Given the description of an element on the screen output the (x, y) to click on. 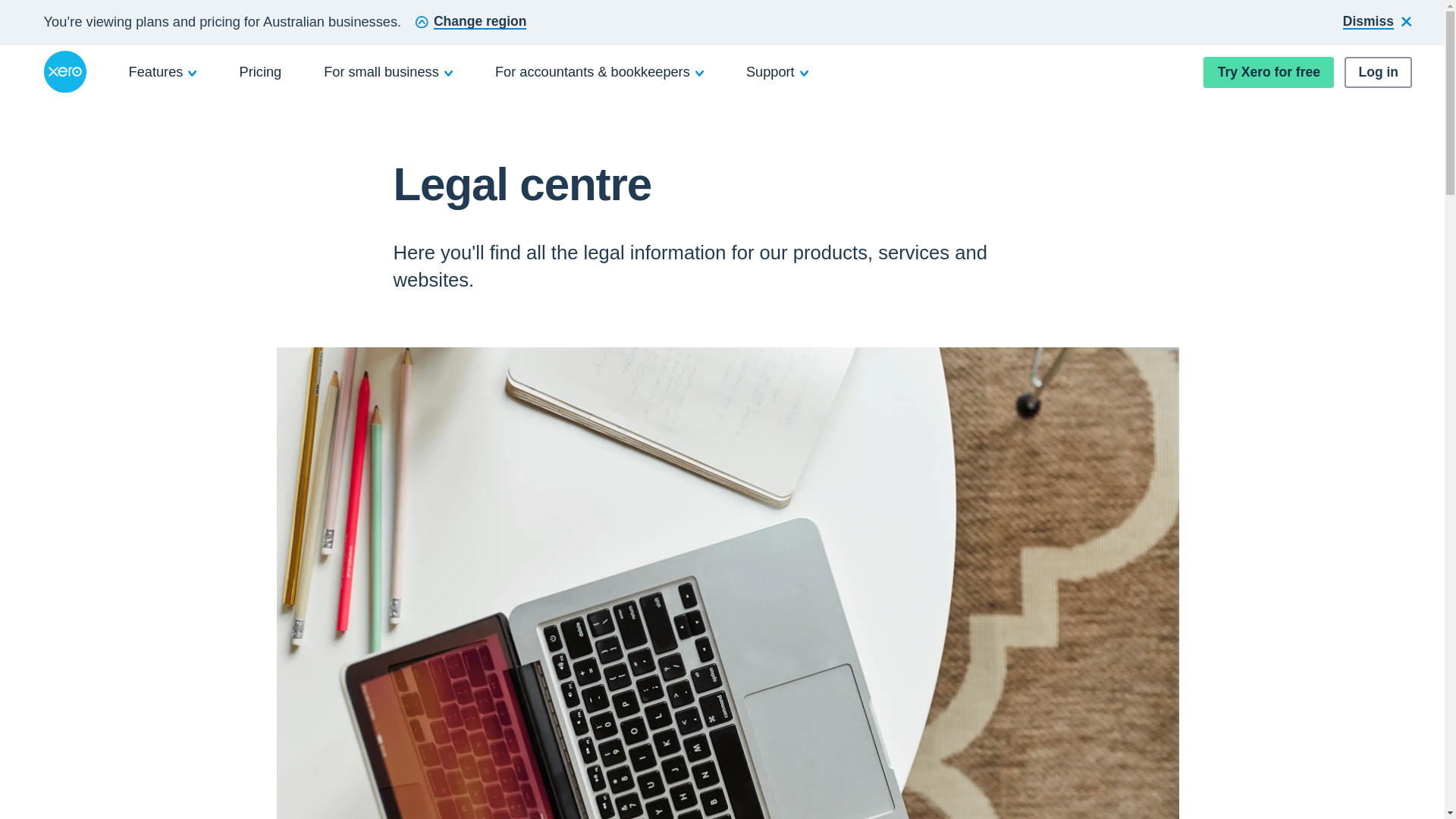
For small business (388, 71)
Features (162, 71)
Pricing (260, 71)
Support (777, 71)
Try Xero for free (1268, 71)
Log in (1377, 71)
Change region (469, 23)
Dismiss (1377, 23)
